Given the description of an element on the screen output the (x, y) to click on. 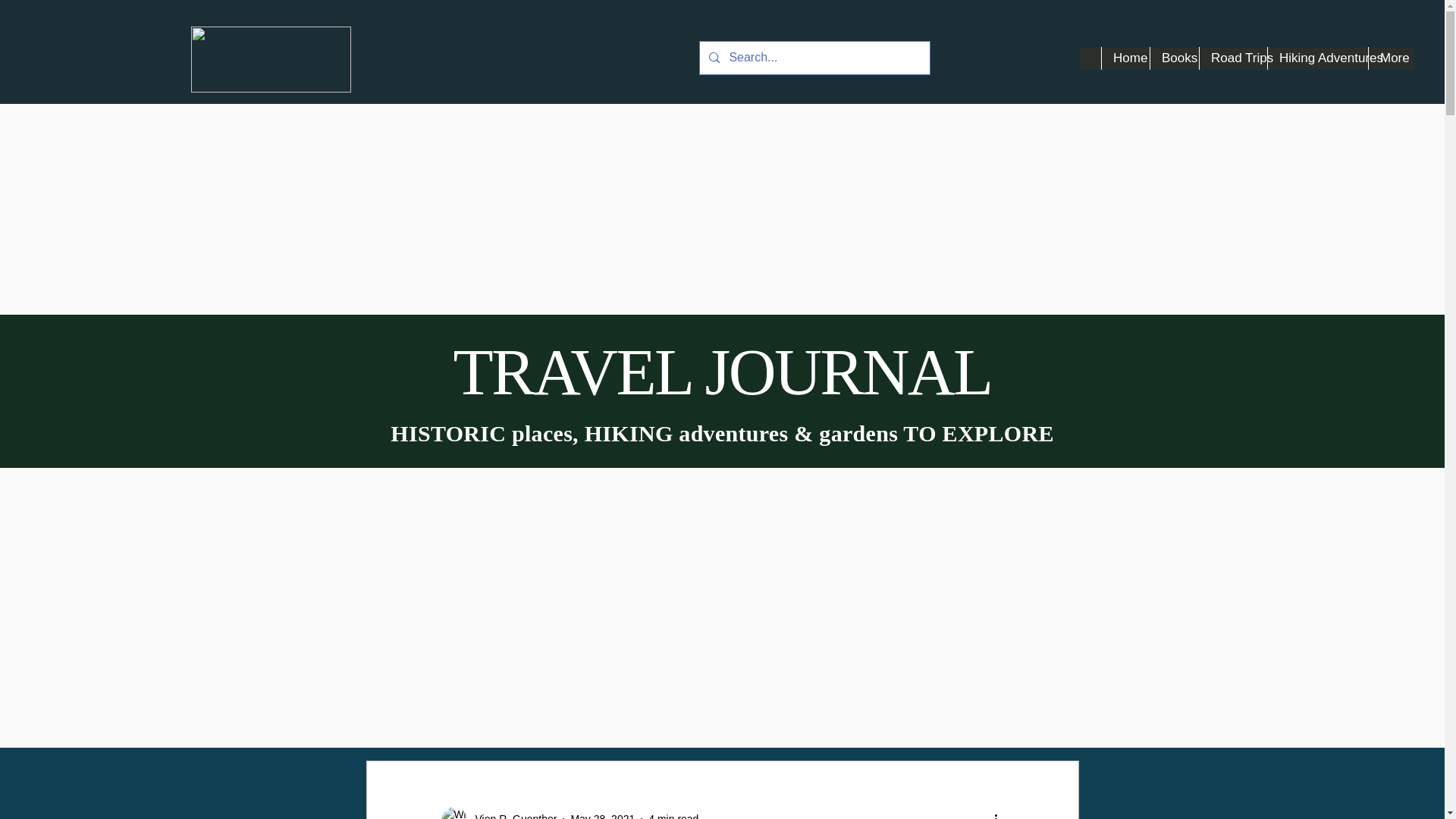
Books (1174, 57)
May 28, 2021 (602, 816)
Vien R. Guenther (510, 815)
4 min read (672, 816)
Home (1125, 57)
